Given the description of an element on the screen output the (x, y) to click on. 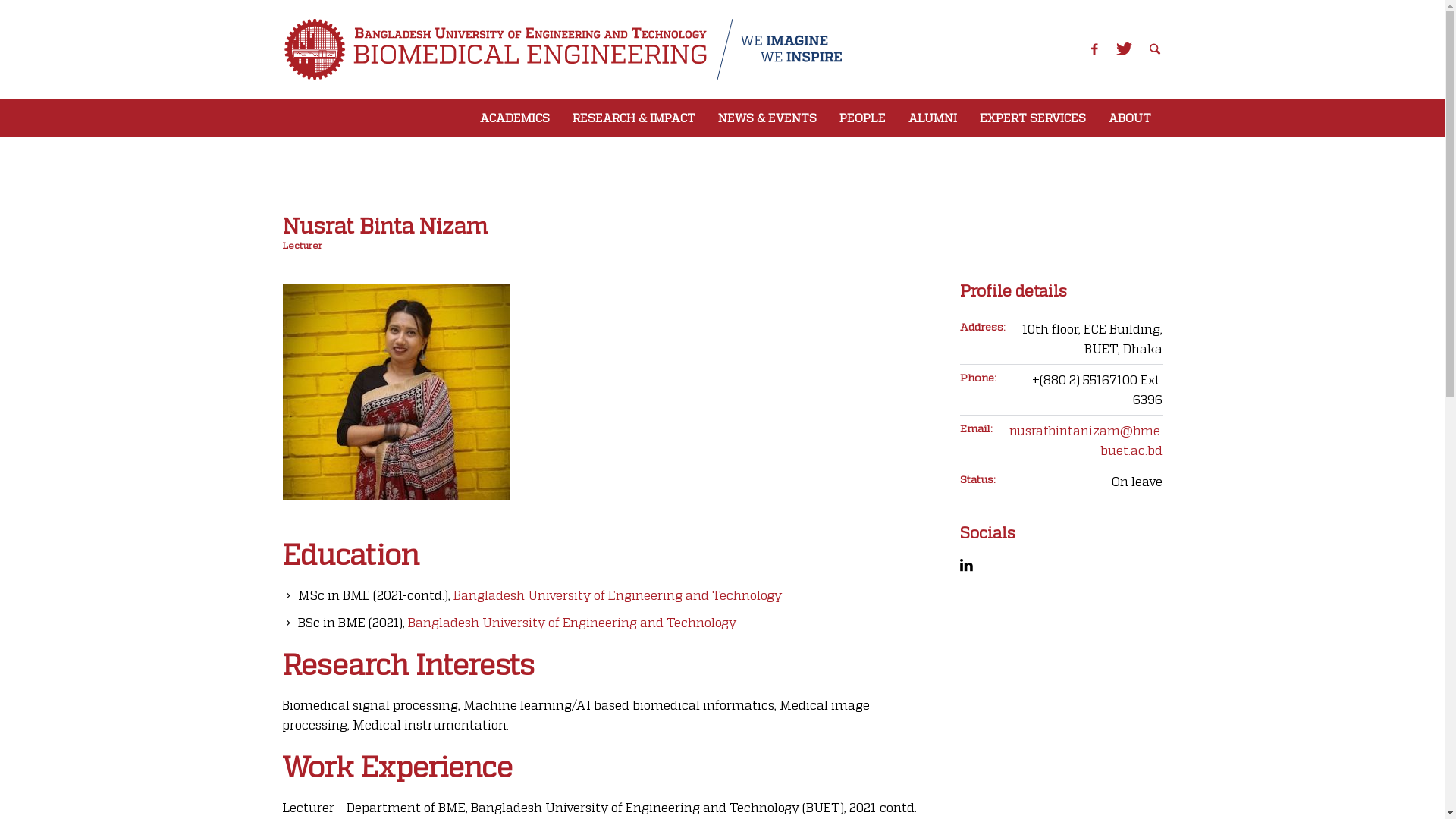
NEWS & EVENTS Element type: text (767, 117)
Facebook Element type: hover (1094, 49)
ALUMNI Element type: text (931, 117)
nusratbintanizam@bme.buet.ac.bd Element type: text (1084, 440)
ACADEMICS Element type: text (514, 117)
RESEARCH & IMPACT Element type: text (633, 117)
PEOPLE Element type: text (862, 117)
Bangladesh University of Engineering and Technology Element type: text (617, 594)
ABOUT Element type: text (1128, 117)
Bangladesh University of Engineering and Technology Element type: text (571, 622)
EXPERT SERVICES Element type: text (1031, 117)
